Given the description of an element on the screen output the (x, y) to click on. 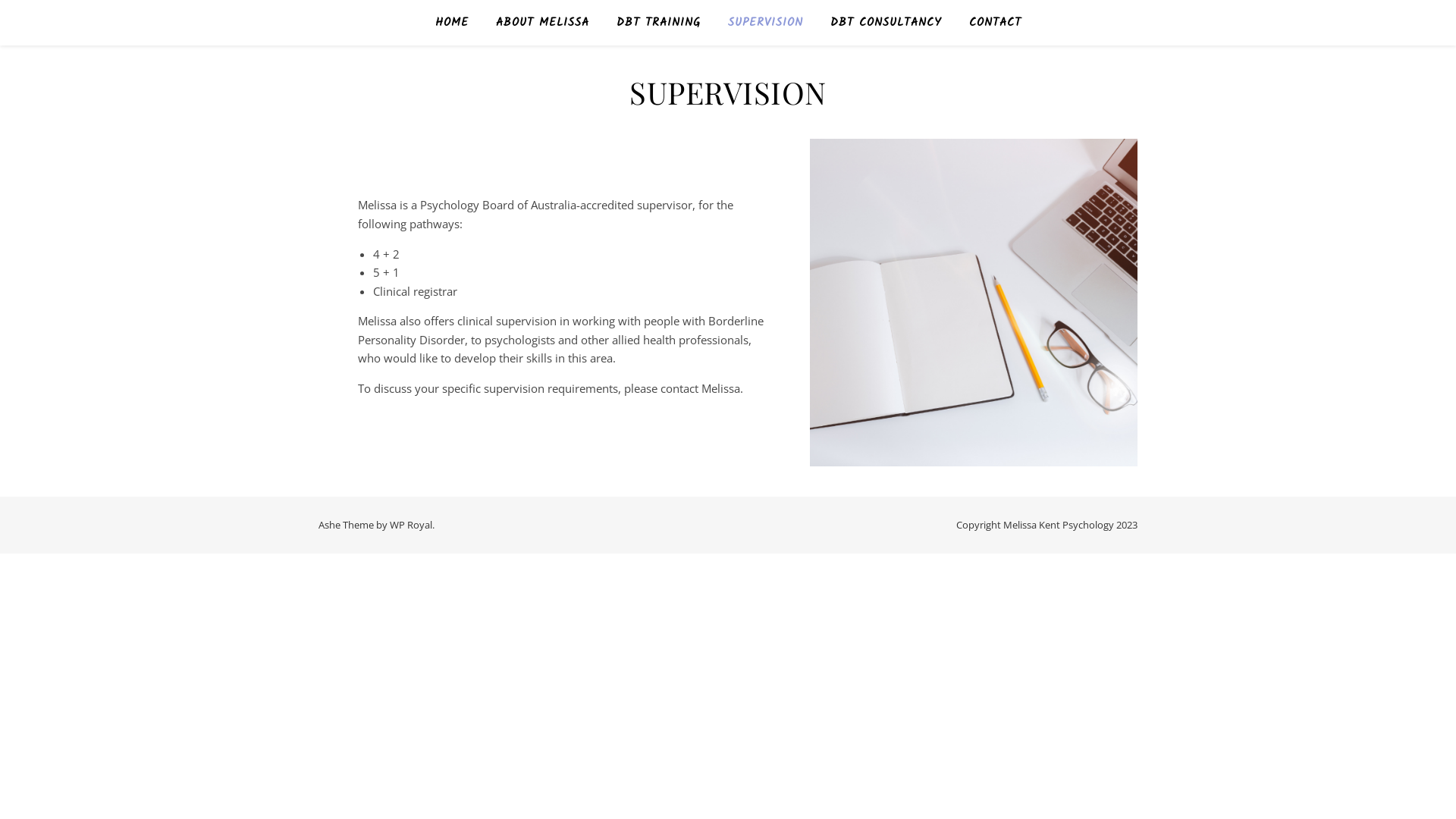
DBT CONSULTANCY Element type: text (885, 22)
WP Royal Element type: text (410, 524)
HOME Element type: text (457, 22)
ABOUT MELISSA Element type: text (542, 22)
DBT TRAINING Element type: text (657, 22)
CONTACT Element type: text (989, 22)
SUPERVISION Element type: text (765, 22)
